Given the description of an element on the screen output the (x, y) to click on. 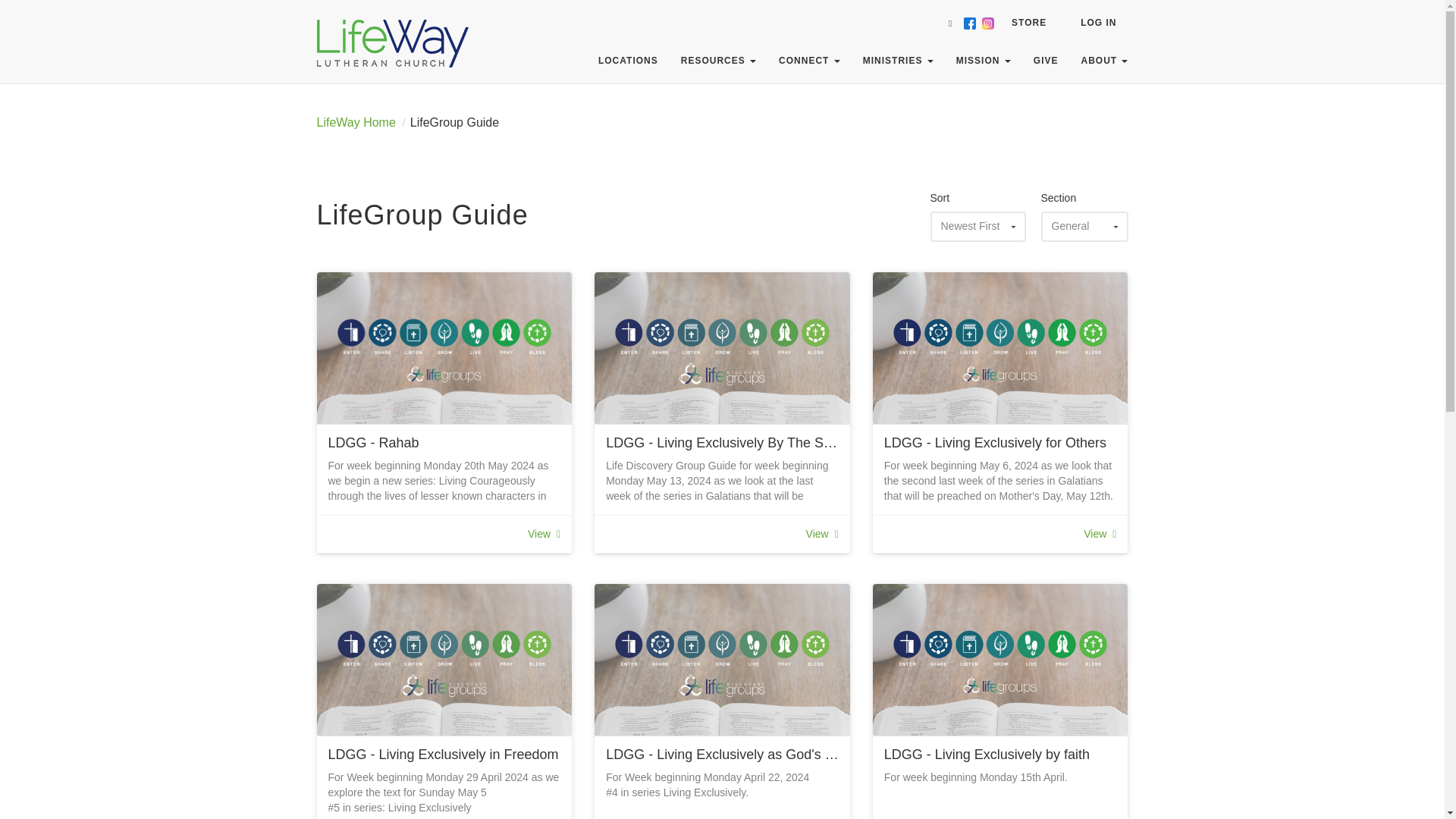
MINISTRIES (897, 60)
LOCATIONS (627, 60)
STORE (1029, 22)
MISSION (983, 60)
ABOUT (1103, 60)
GIVE (1046, 60)
LOG IN (1097, 22)
CONNECT (809, 60)
RESOURCES (718, 60)
